Given the description of an element on the screen output the (x, y) to click on. 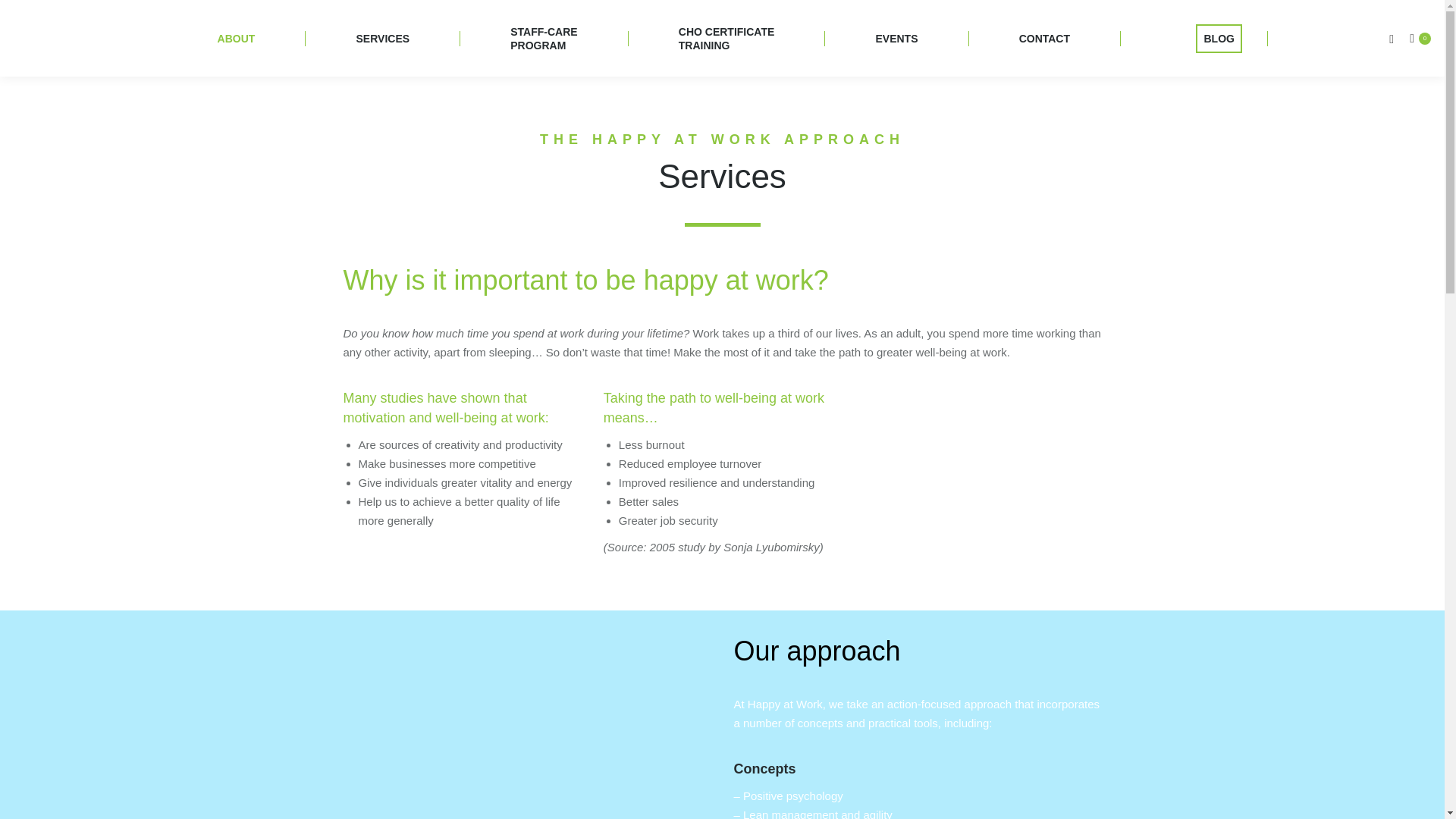
SERVICES (382, 38)
EVENTS (896, 38)
 0 (1420, 38)
CONTACT (726, 38)
BLOG (1044, 38)
ABOUT (544, 38)
annika-service (1218, 38)
